Given the description of an element on the screen output the (x, y) to click on. 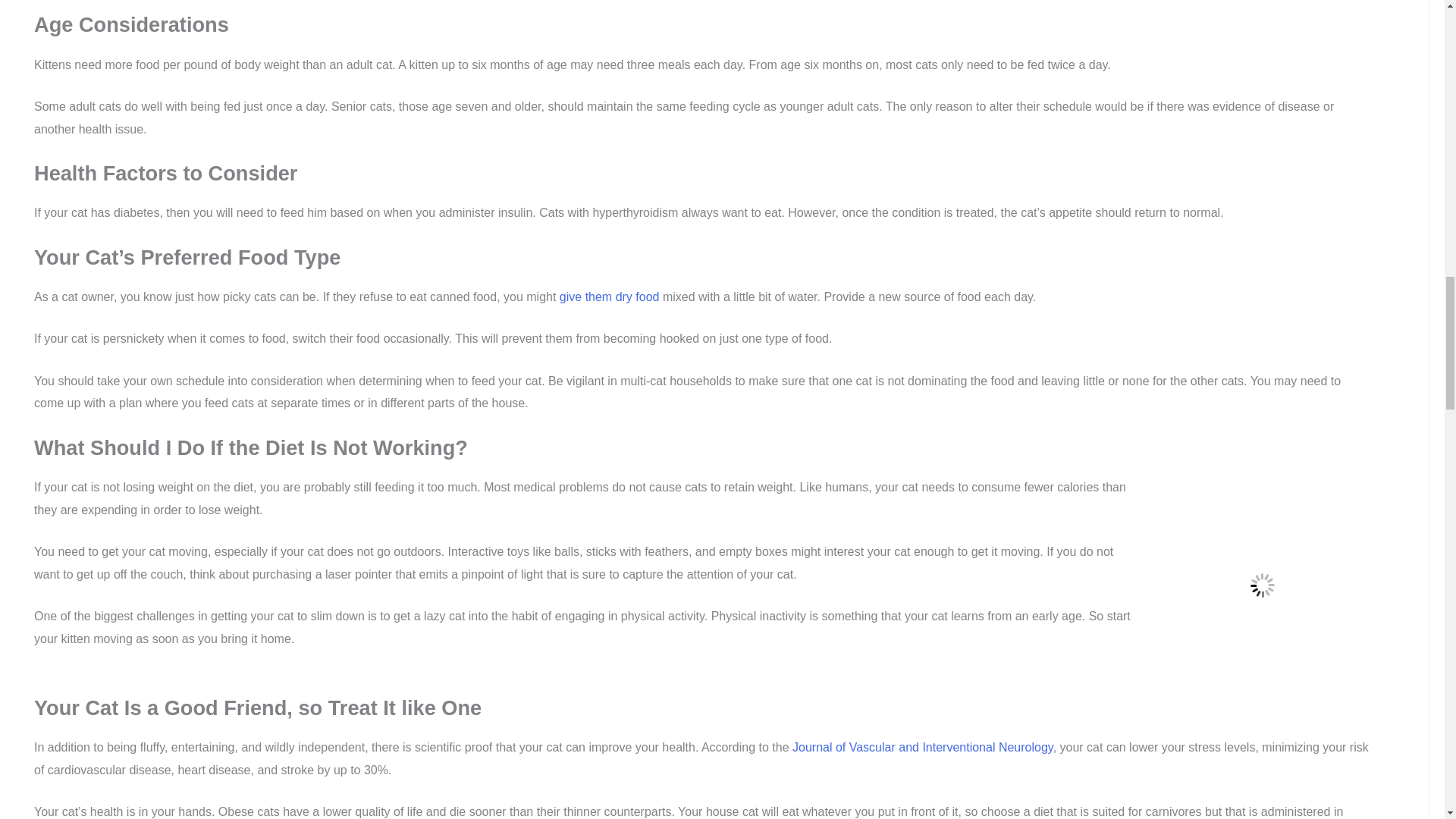
give them dry food (609, 296)
Journal of Vascular and Interventional Neurology (922, 747)
